Given the description of an element on the screen output the (x, y) to click on. 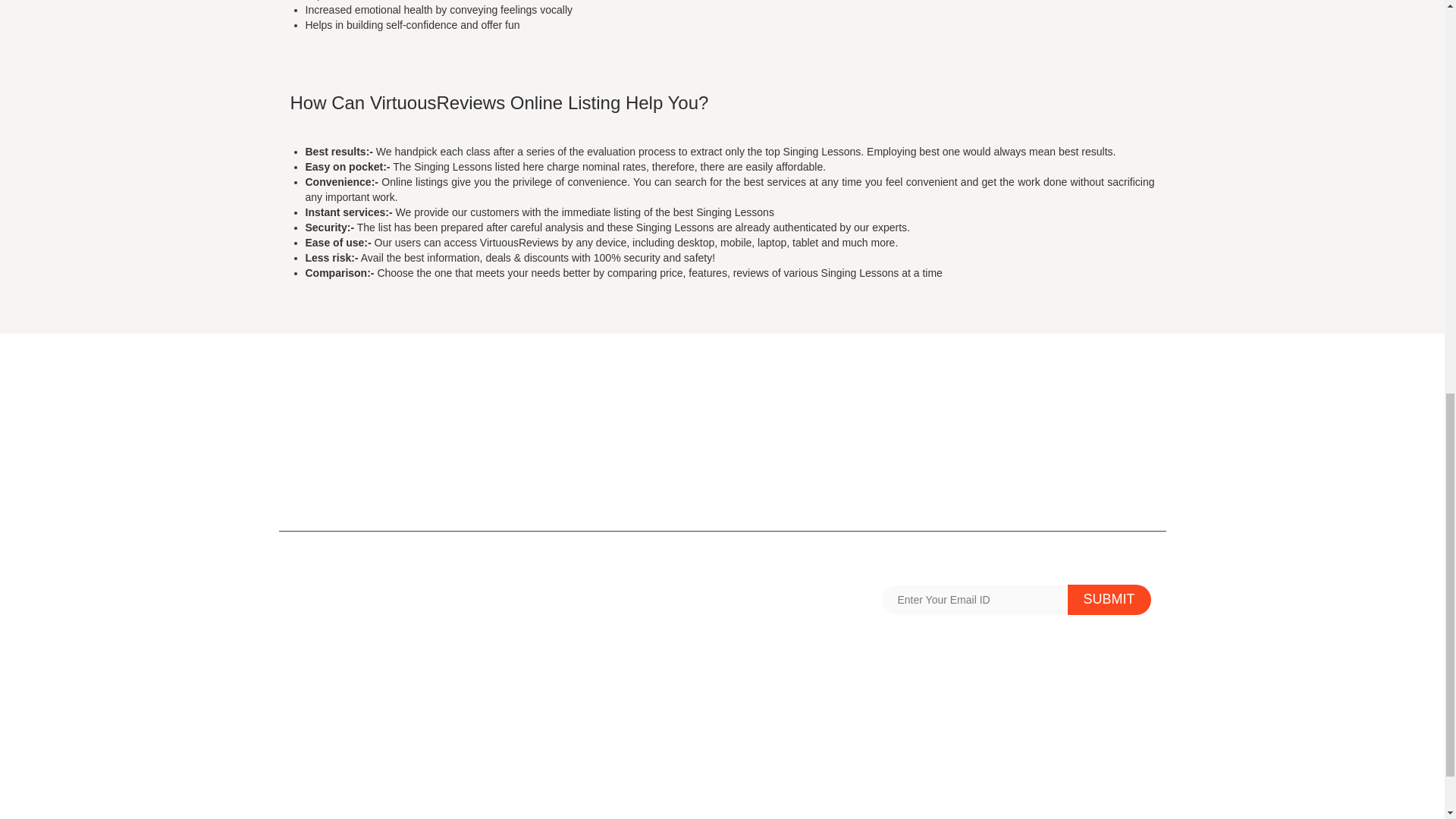
What we do (761, 690)
Who we are (317, 781)
